Given the description of an element on the screen output the (x, y) to click on. 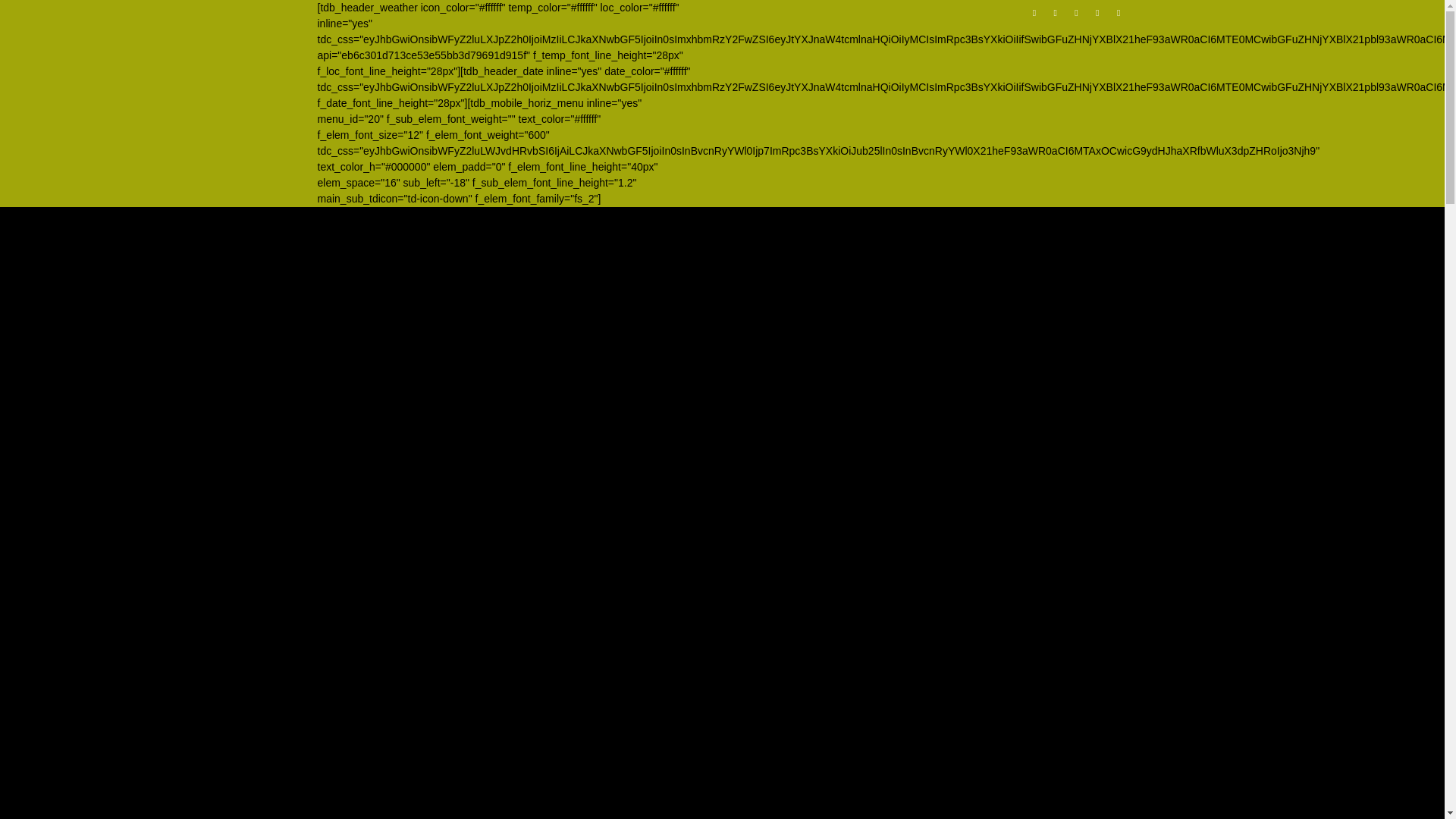
Twitter (1097, 16)
Instagram (1055, 16)
Facebook (1034, 16)
Youtube (1117, 16)
TikTok (1075, 16)
